Given the description of an element on the screen output the (x, y) to click on. 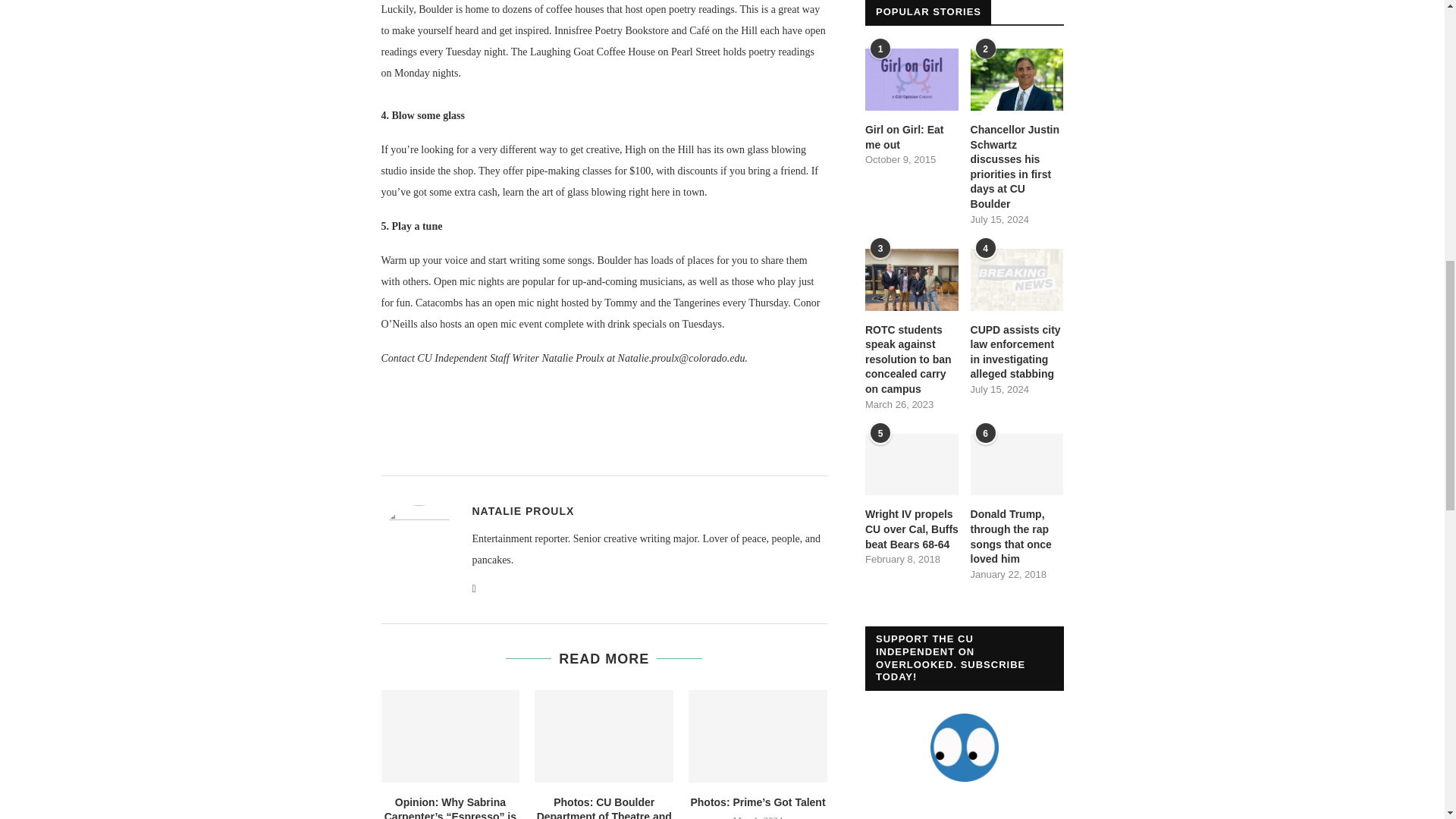
Girl on Girl: Eat me out (911, 79)
Posts by Natalie Proulx (522, 510)
Girl on Girl: Eat me out (911, 137)
Wright IV propels CU over Cal, Buffs beat Bears 68-64 (911, 465)
